Given the description of an element on the screen output the (x, y) to click on. 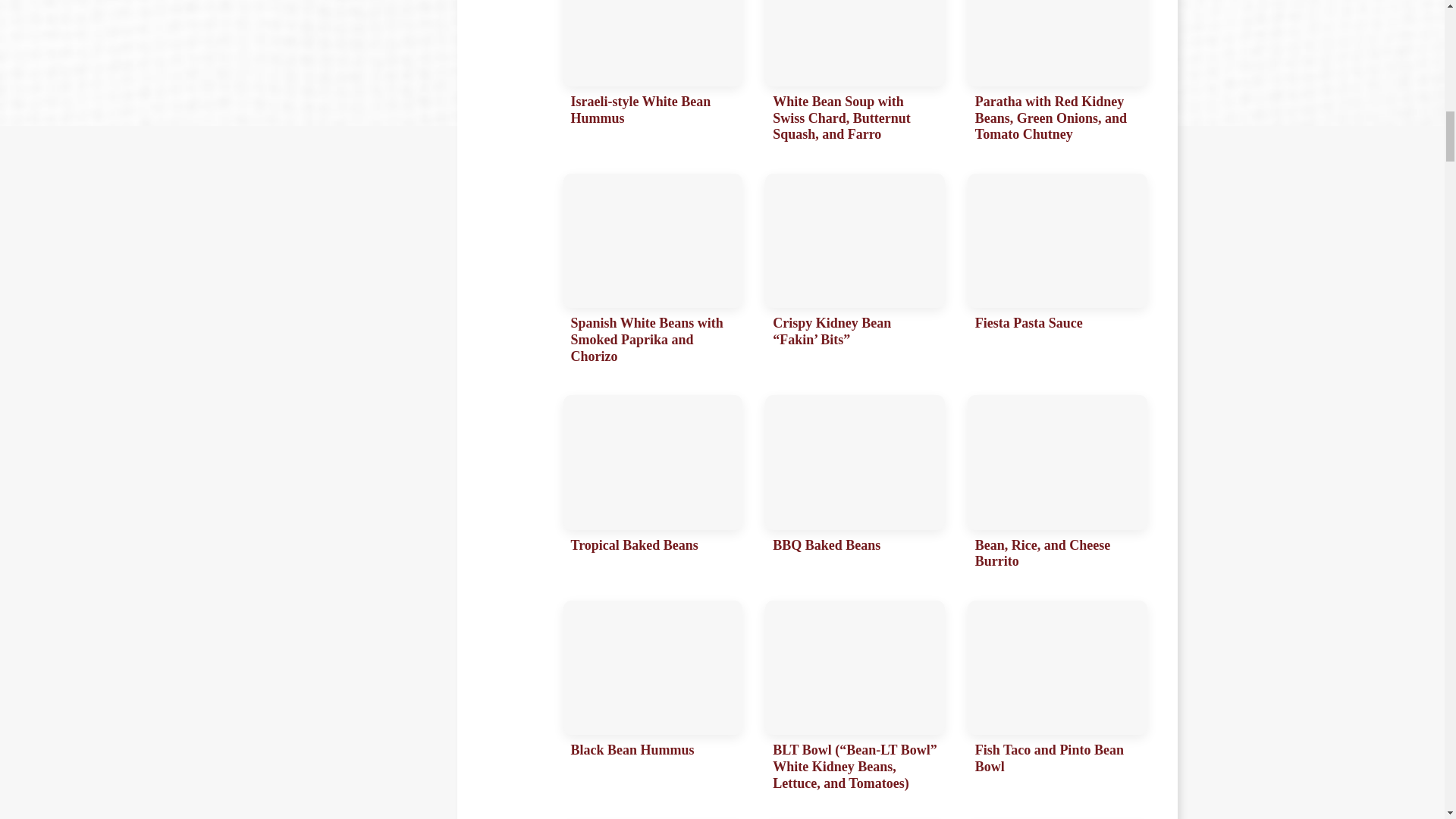
Black Bean Hummus (652, 699)
Fiesta Pasta Sauce (1057, 272)
Spanish White Beans with Smoked Paprika and Chorizo (652, 272)
Tropical Baked Beans (652, 486)
Bean, Rice, and Cheese Burrito (1057, 486)
Israeli-style White Bean Hummus (652, 75)
Fish Taco and Pinto Bean Bowl (1057, 699)
BBQ Baked Beans (854, 486)
